Given the description of an element on the screen output the (x, y) to click on. 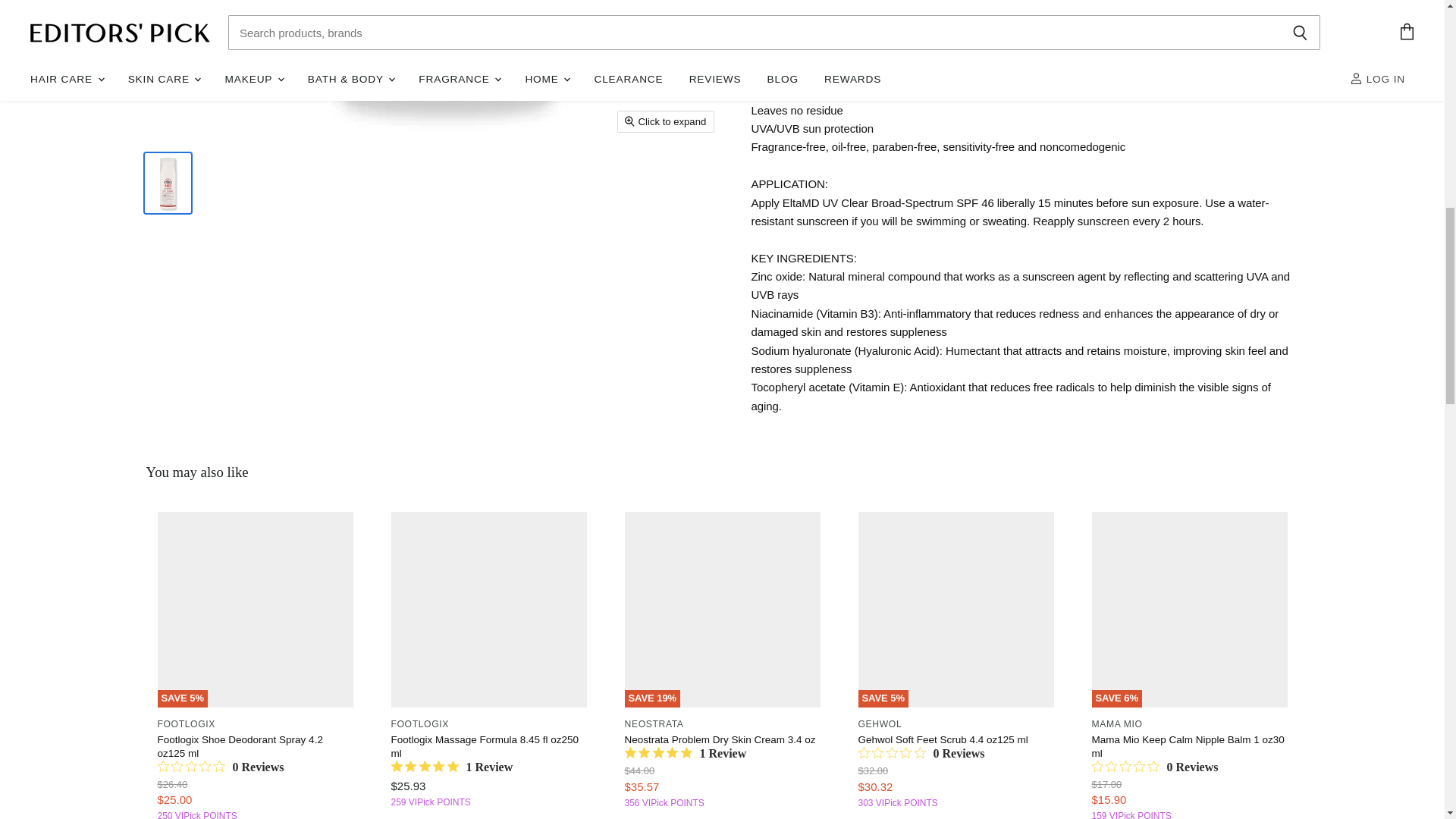
0 Reviews (220, 766)
0 Reviews (1155, 766)
0 Reviews (922, 753)
1 Review (452, 766)
1 Review (685, 753)
